Given the description of an element on the screen output the (x, y) to click on. 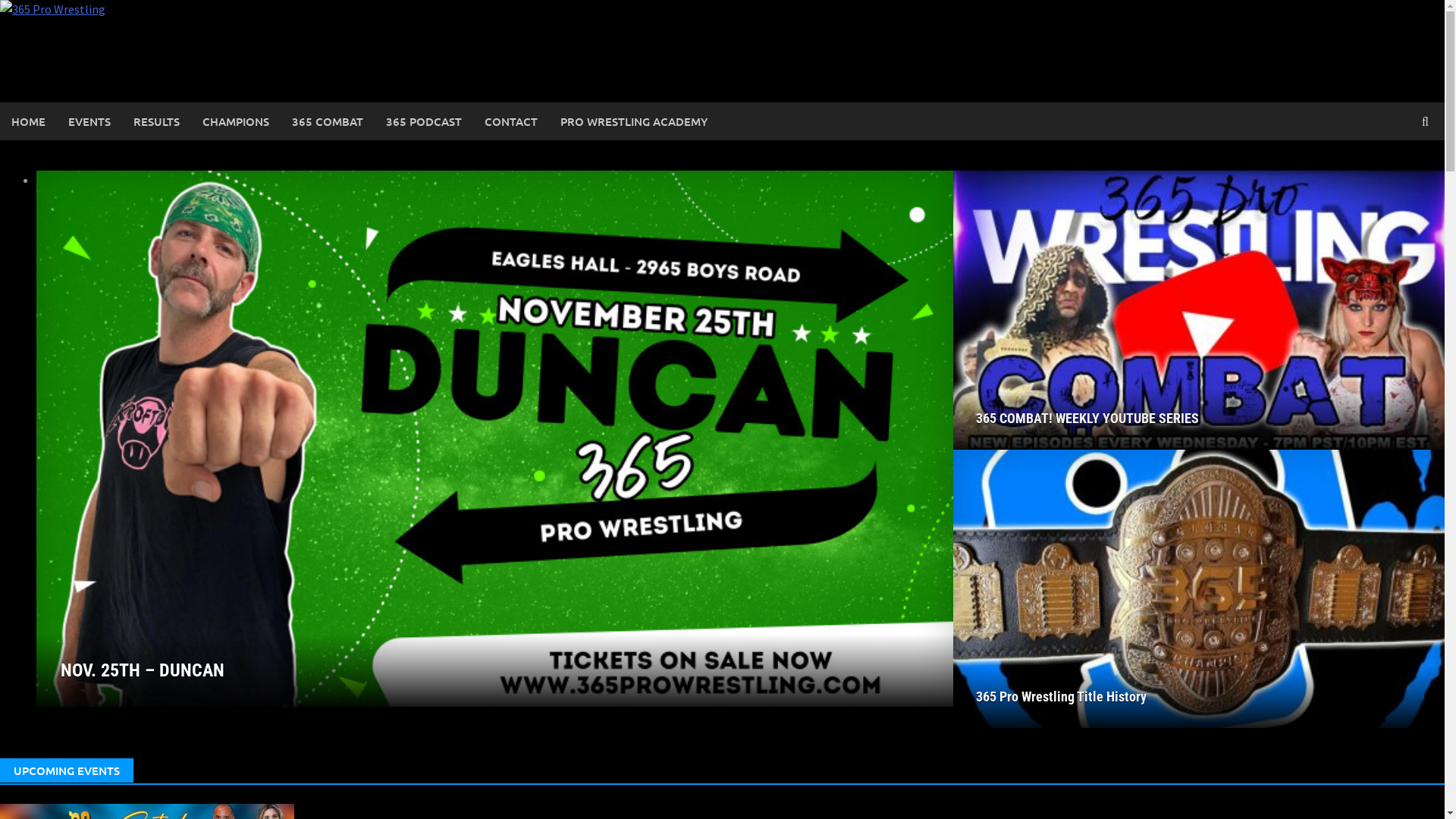
365 Pro Wrestling Title History Element type: text (1198, 696)
365 COMBAT! WEEKLY YOUTUBE SERIES Element type: text (1198, 417)
RESULTS Element type: text (156, 121)
EVENTS Element type: text (89, 121)
365 COMBAT Element type: text (327, 121)
HOME Element type: text (28, 121)
CONTACT Element type: text (511, 121)
CHAMPIONS Element type: text (235, 121)
PRO WRESTLING ACADEMY Element type: text (633, 121)
365 PODCAST Element type: text (423, 121)
